Given the description of an element on the screen output the (x, y) to click on. 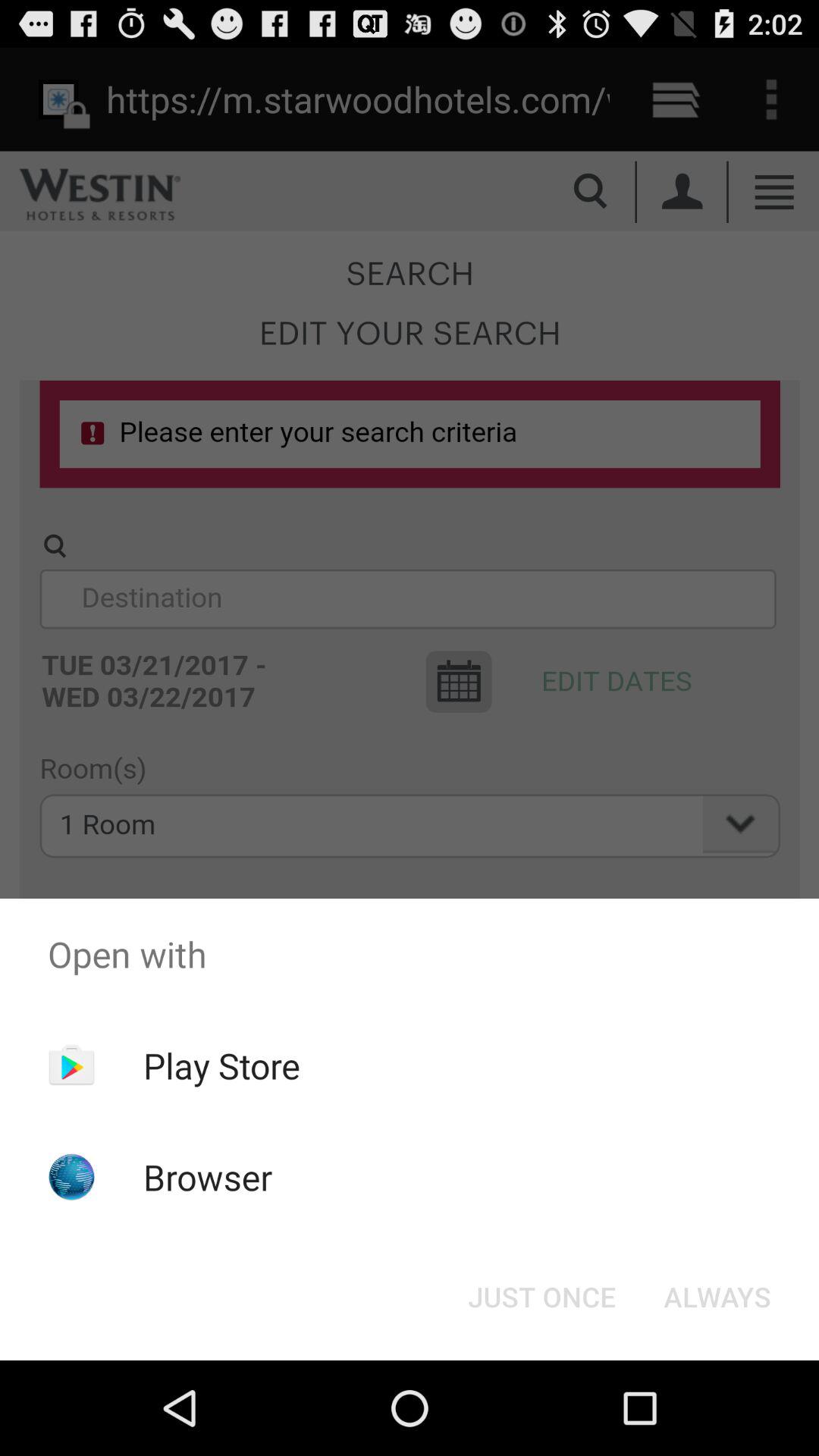
launch the item to the left of the always (541, 1296)
